Given the description of an element on the screen output the (x, y) to click on. 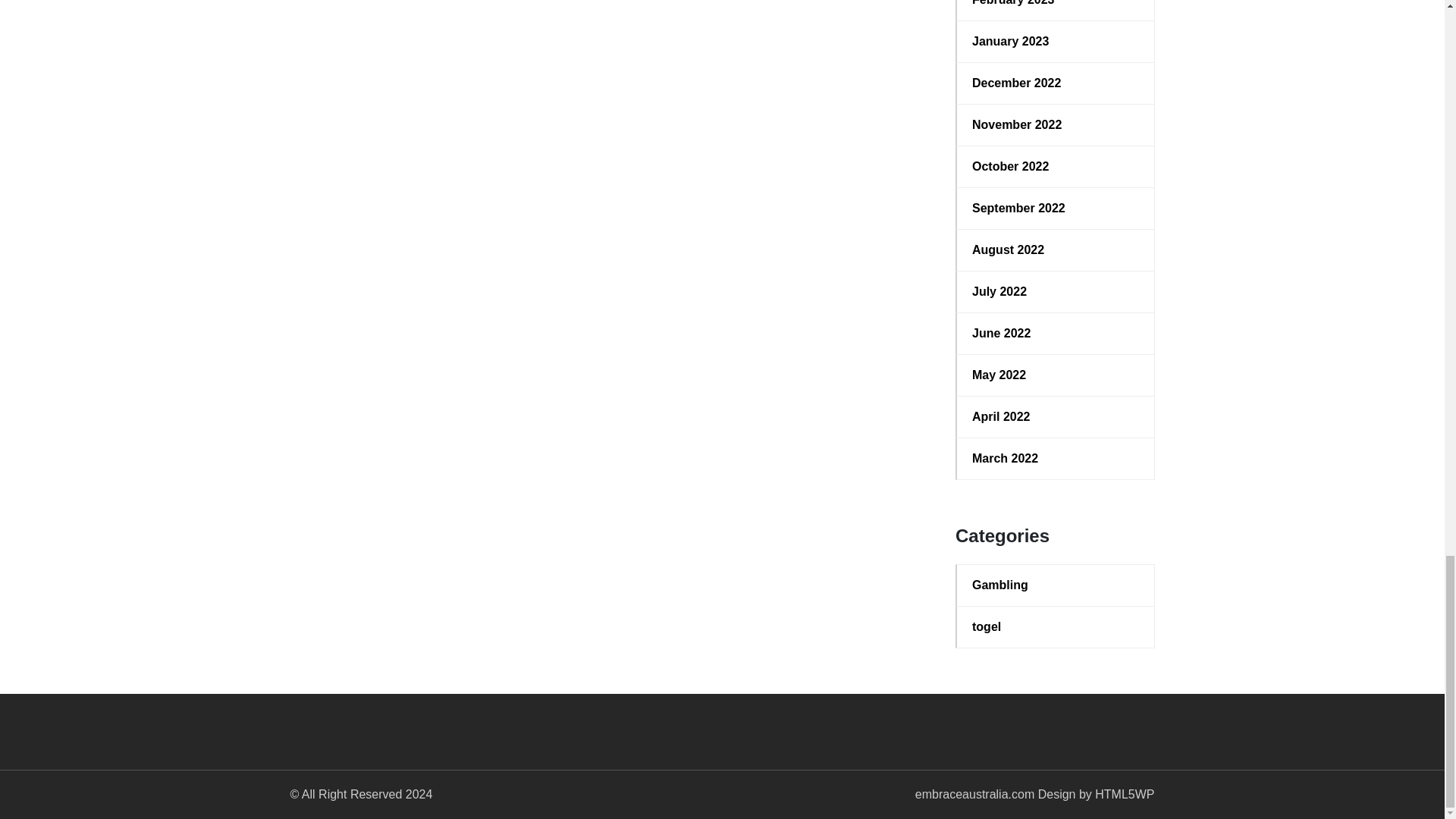
December 2022 (1055, 83)
February 2023 (1055, 4)
January 2023 (1055, 41)
